Given the description of an element on the screen output the (x, y) to click on. 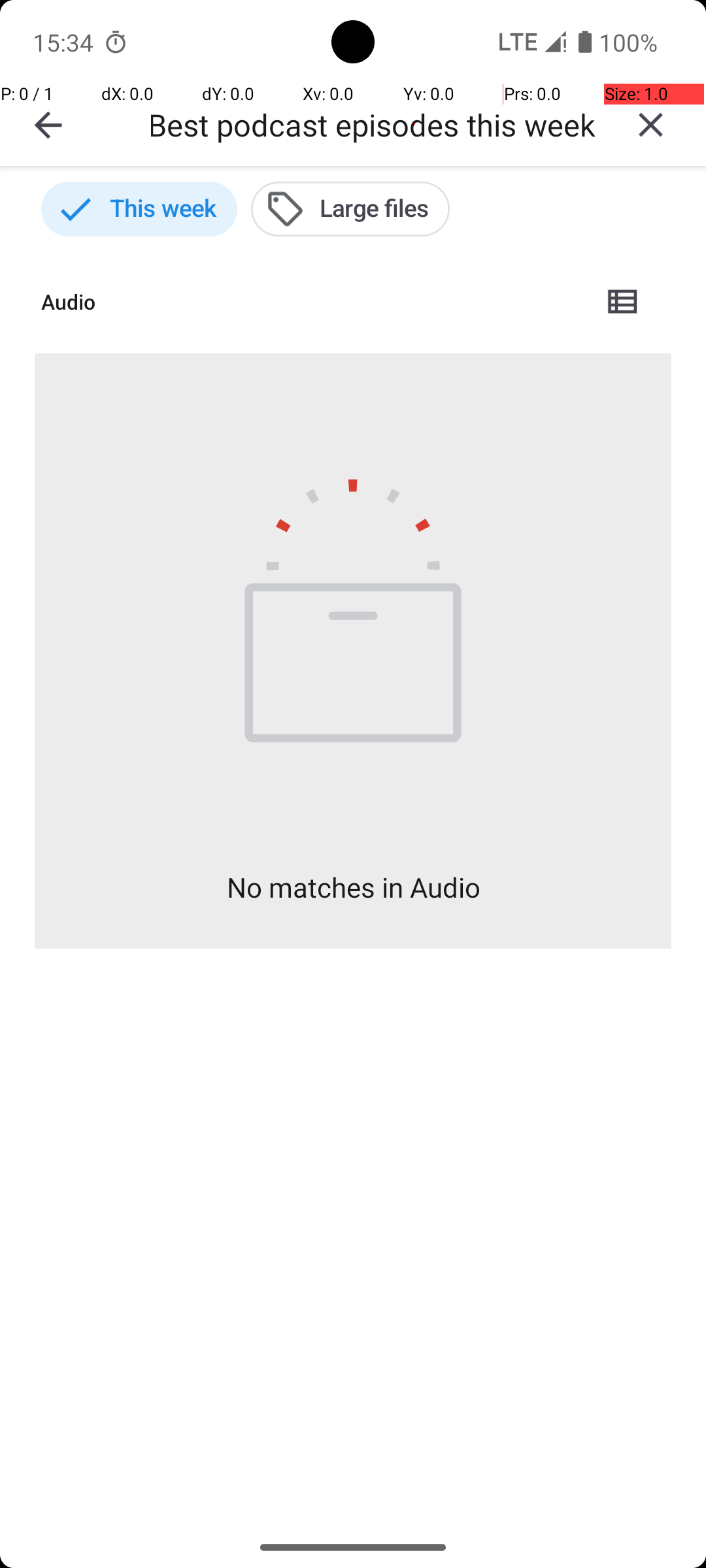
Best podcast episodes this week Element type: android.widget.AutoCompleteTextView (373, 124)
No matches in Audio Element type: android.widget.TextView (352, 886)
